Given the description of an element on the screen output the (x, y) to click on. 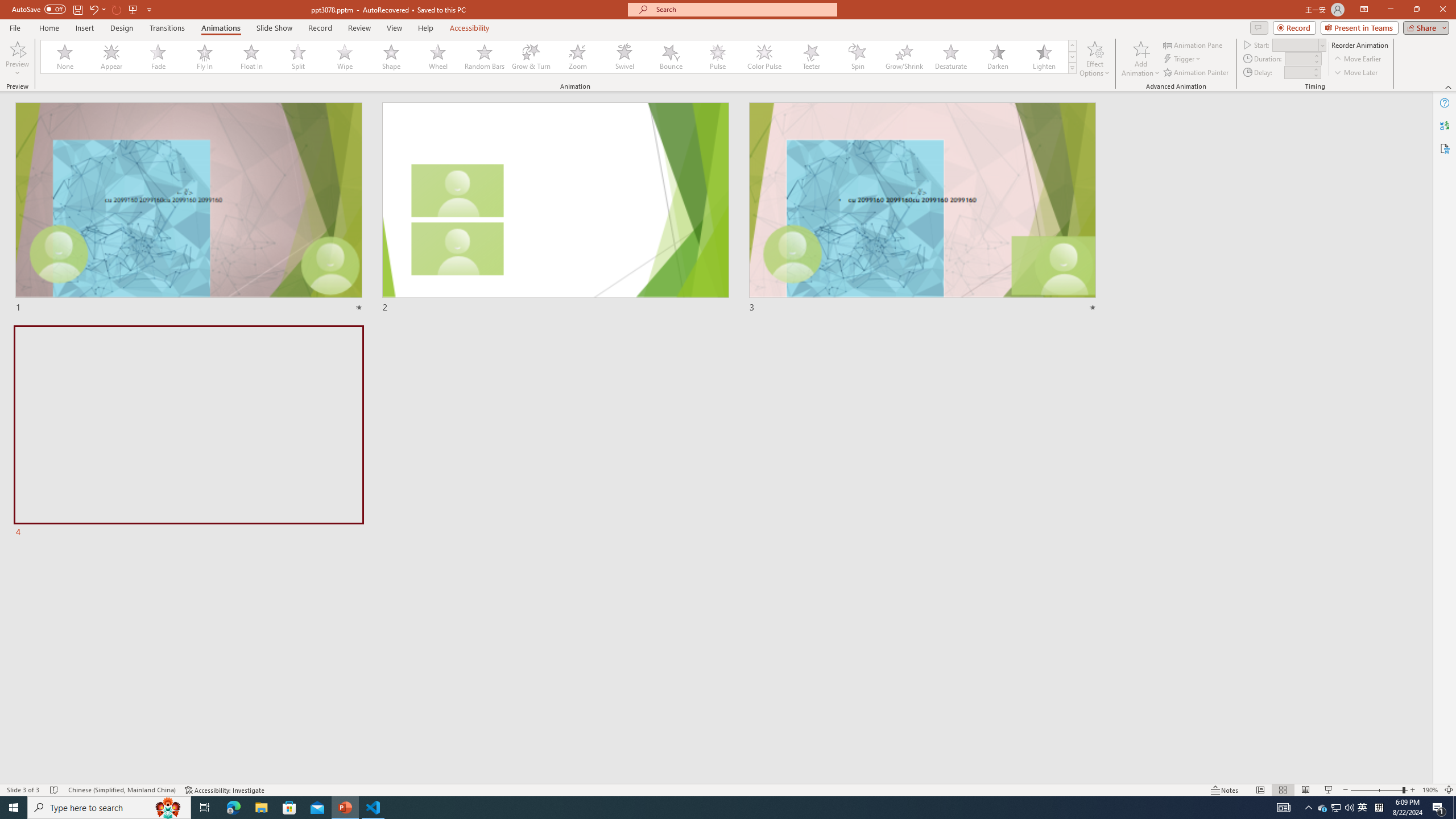
Class: MsoCommandBar (728, 789)
Animation Pane (1193, 44)
Start (1299, 44)
Preview (17, 48)
Spin (857, 56)
AutomationID: AnimationGallery (558, 56)
Row Down (1071, 56)
